Given the description of an element on the screen output the (x, y) to click on. 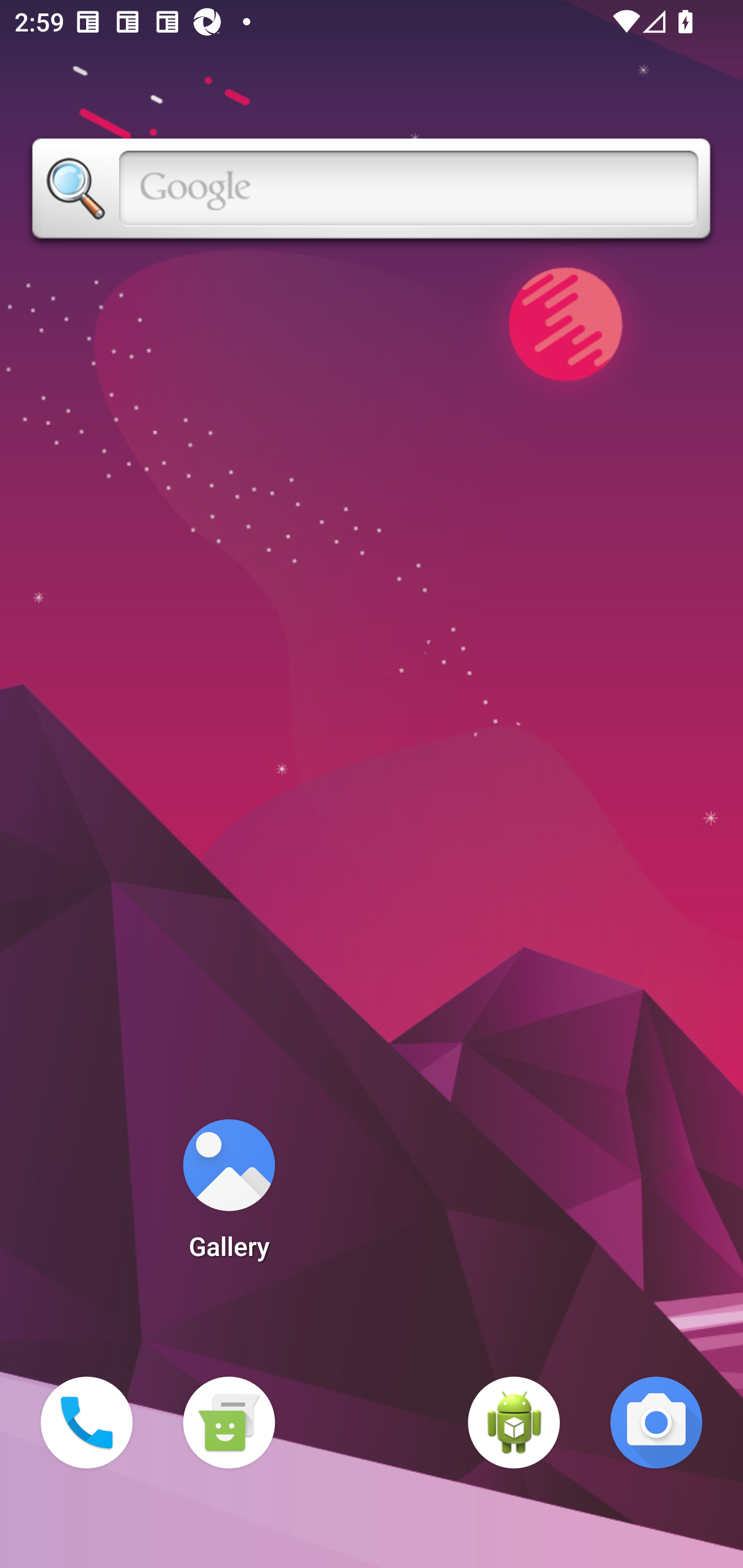
Gallery (228, 1195)
Phone (86, 1422)
Messaging (228, 1422)
WebView Browser Tester (513, 1422)
Camera (656, 1422)
